Given the description of an element on the screen output the (x, y) to click on. 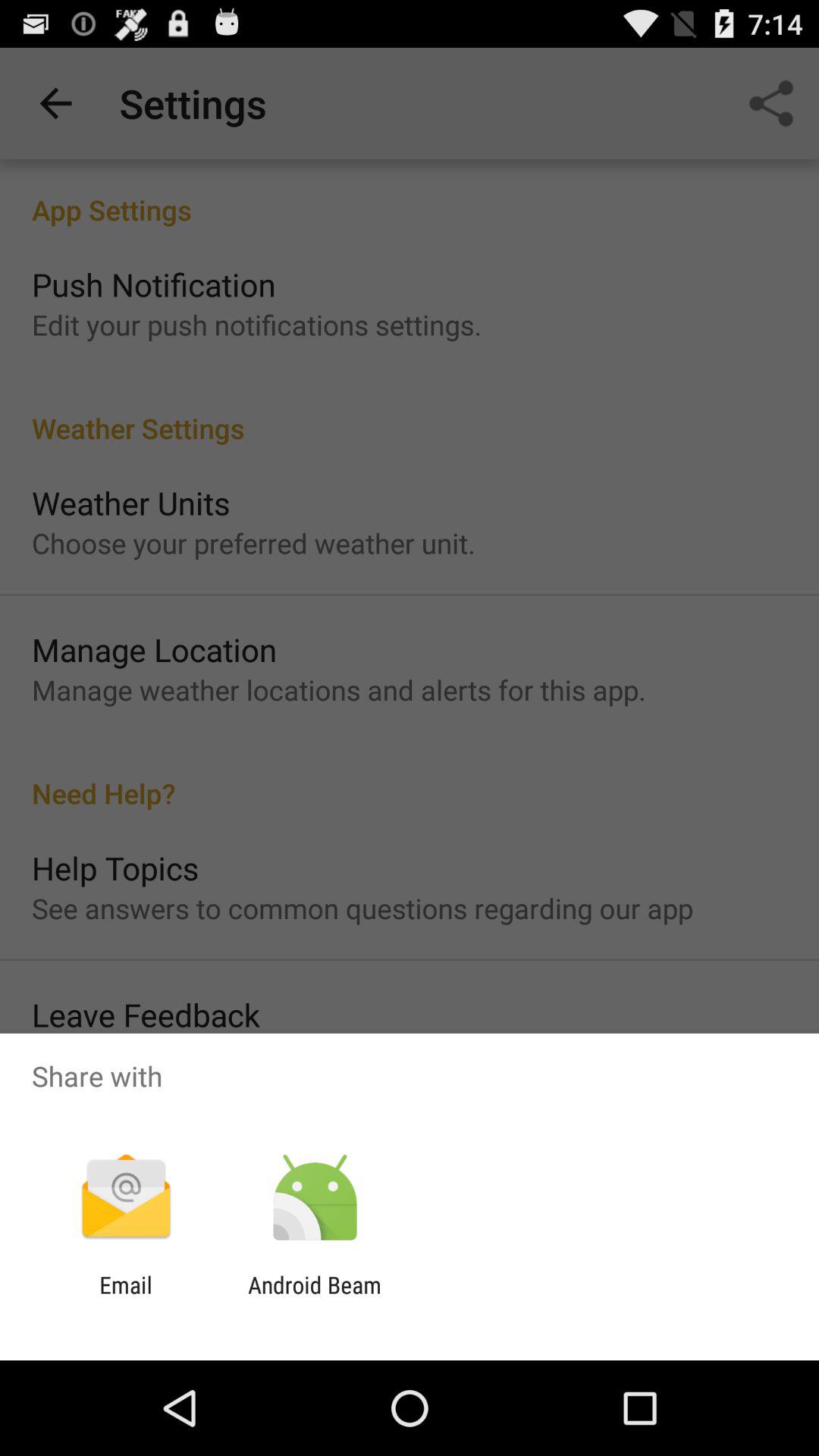
turn off the email item (125, 1298)
